Given the description of an element on the screen output the (x, y) to click on. 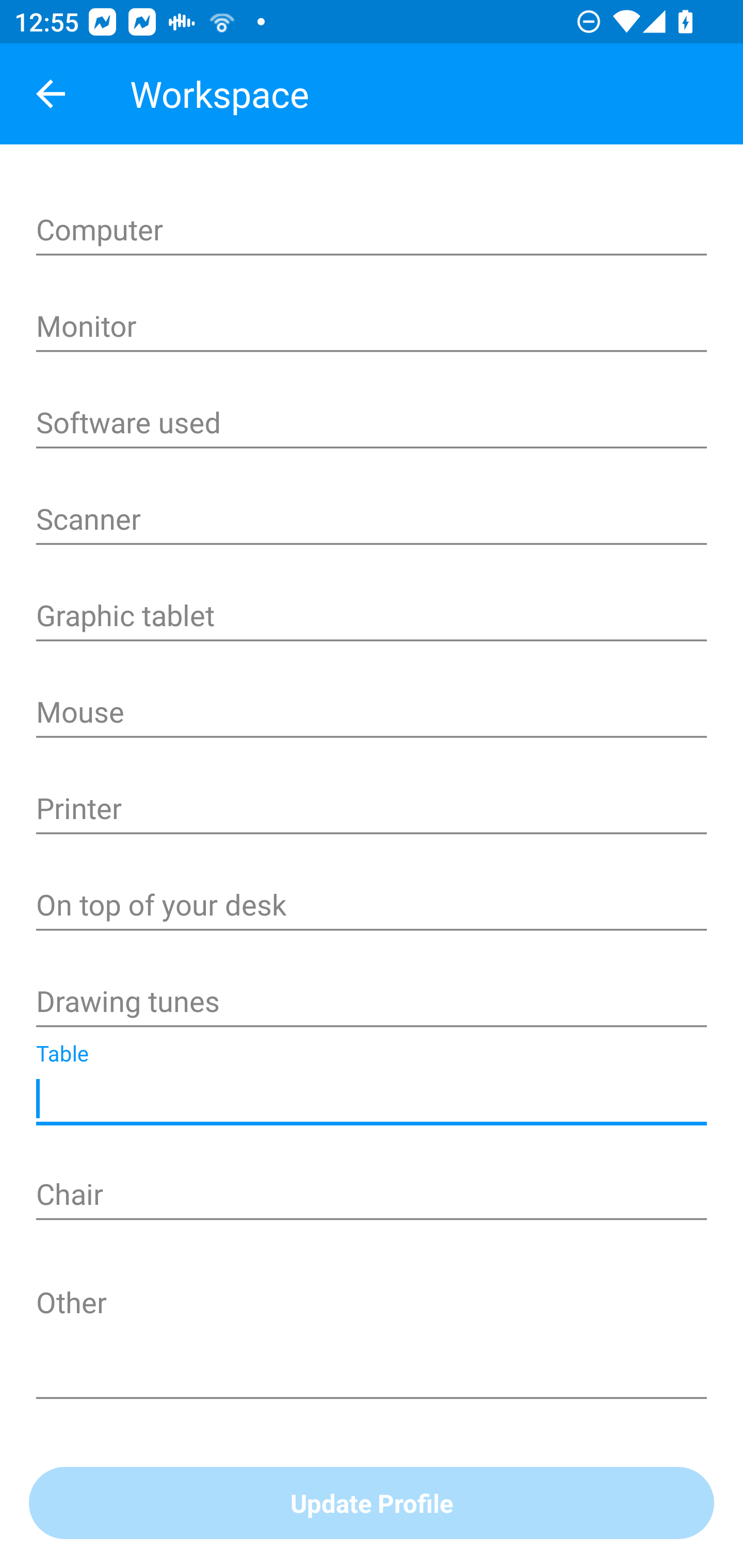
Navigate up (50, 93)
Computer (371, 230)
Monitor (371, 328)
Software used (371, 423)
Scanner (371, 520)
Graphic tablet (371, 616)
Mouse (371, 713)
Printer (371, 809)
On top of your desk (371, 906)
Drawing tunes (371, 1002)
Table (371, 1099)
Chair (371, 1195)
Other (371, 1340)
Update Profile (371, 1503)
